Given the description of an element on the screen output the (x, y) to click on. 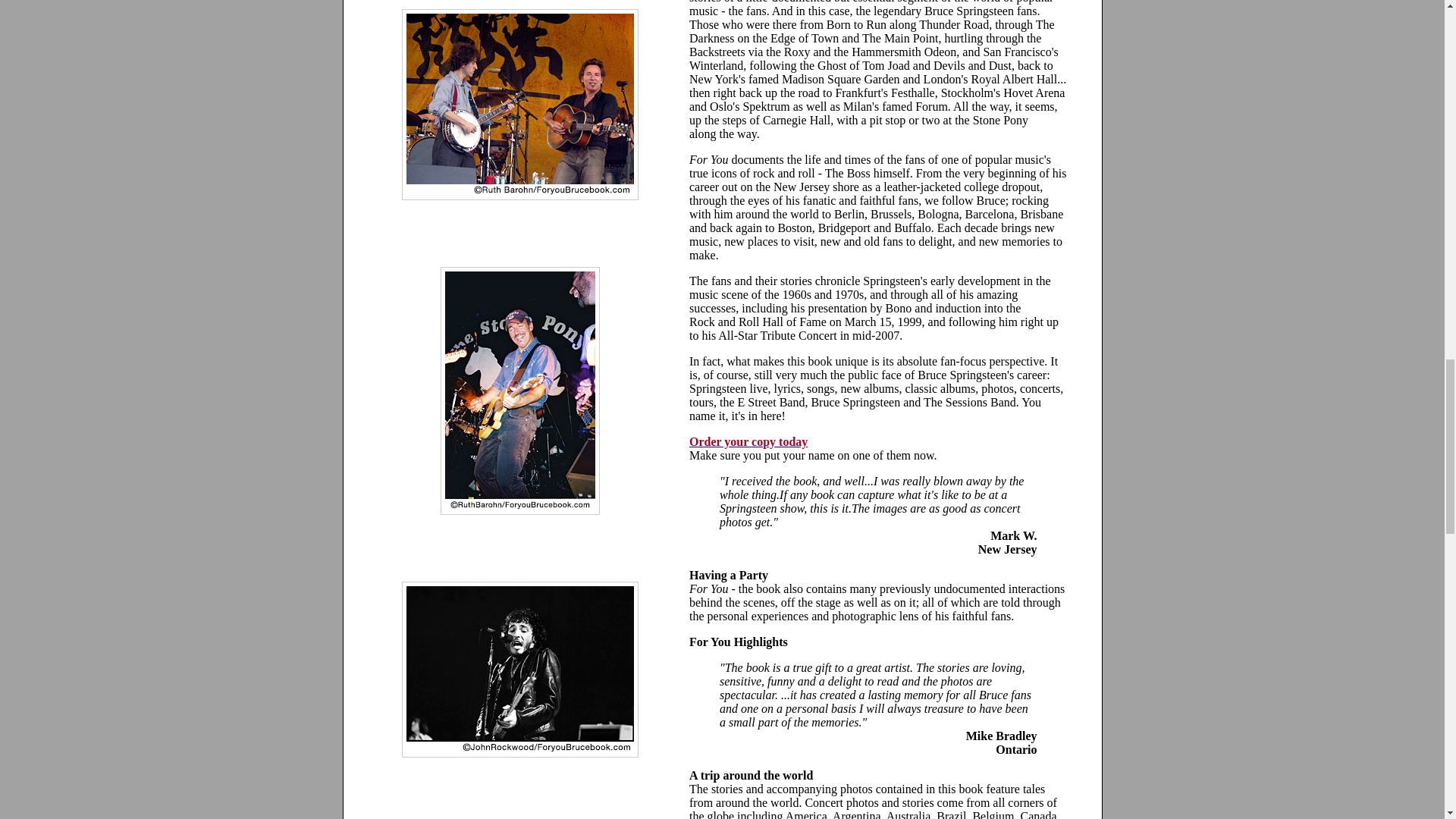
Order your copy today (748, 440)
